Given the description of an element on the screen output the (x, y) to click on. 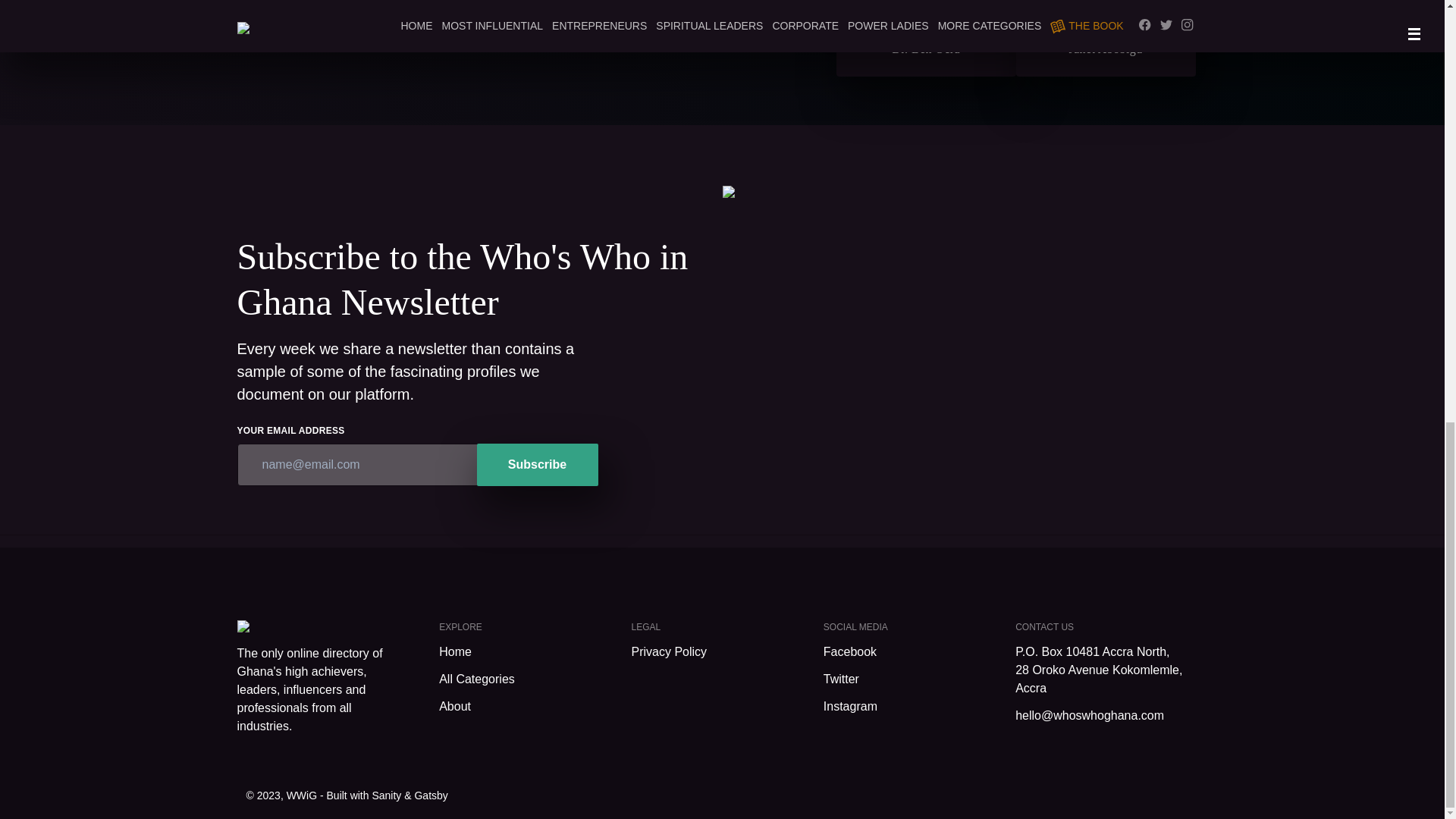
Subscribe (536, 464)
Janet Abobigu (1105, 40)
Dr. Ben Ocra (925, 40)
Home (534, 651)
